Given the description of an element on the screen output the (x, y) to click on. 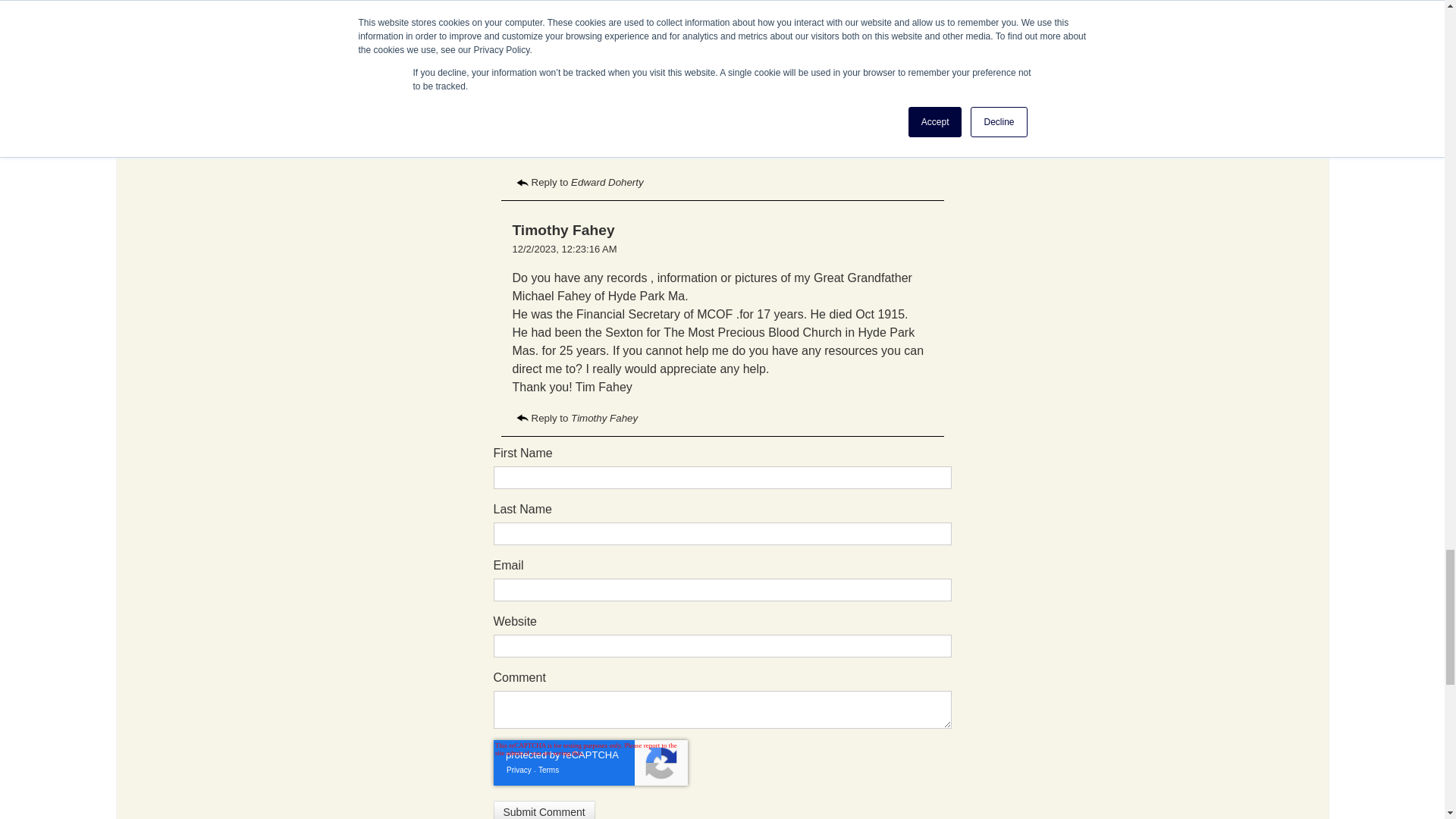
Submit Comment (543, 809)
reCAPTCHA (590, 762)
